Given the description of an element on the screen output the (x, y) to click on. 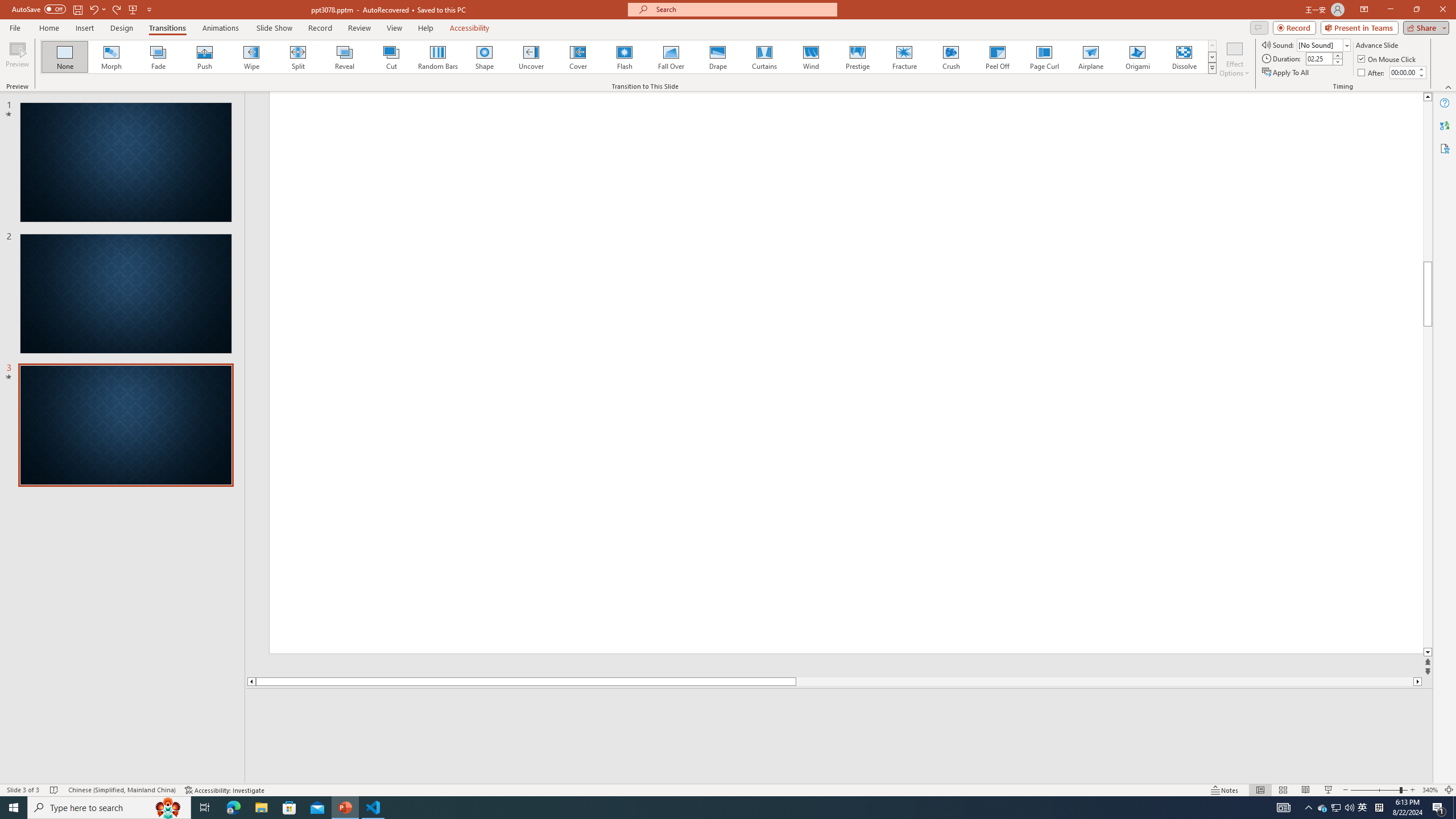
Cover (577, 56)
Less (1420, 75)
Fall Over (670, 56)
Wind (810, 56)
